Given the description of an element on the screen output the (x, y) to click on. 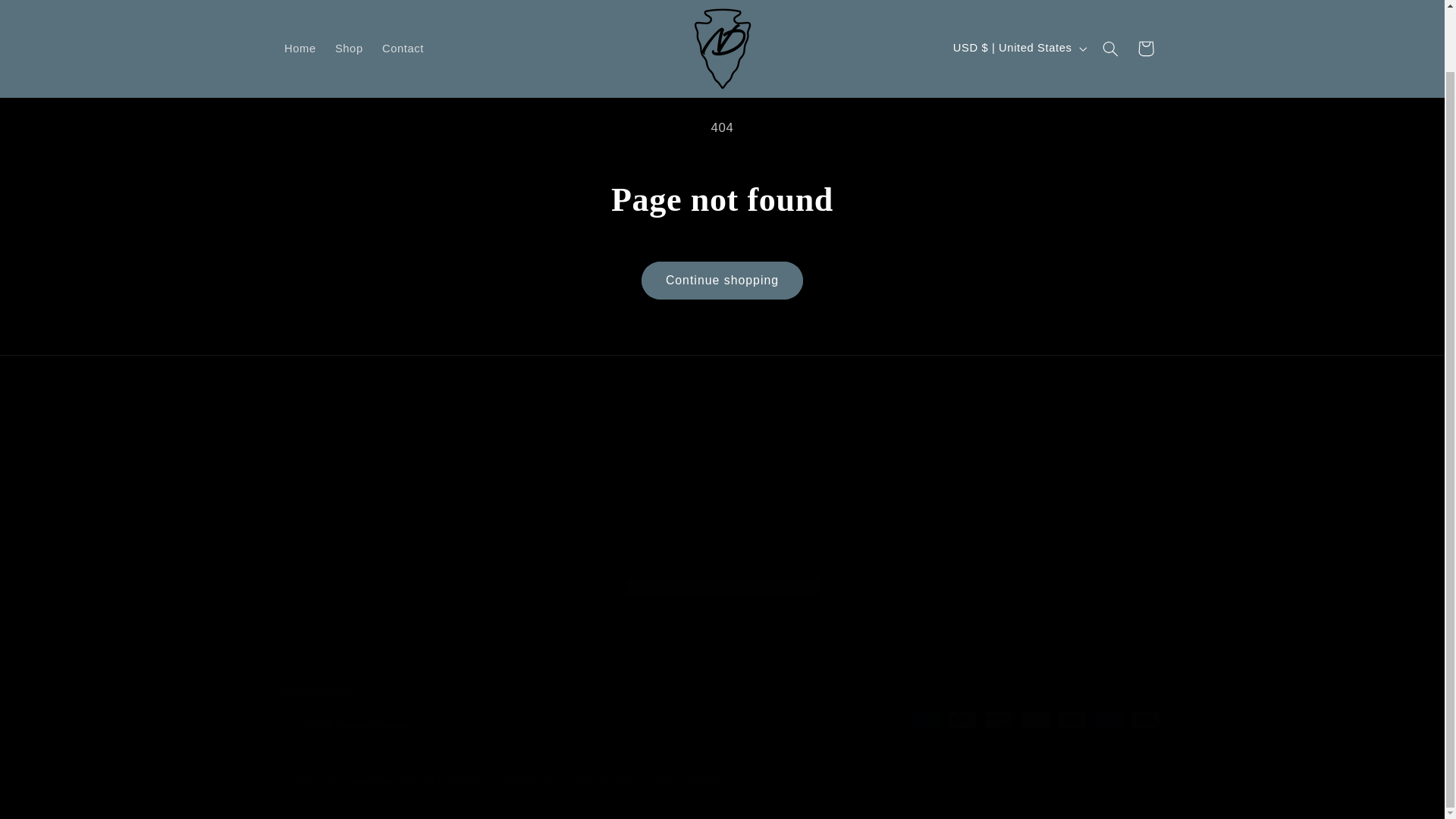
Terms of service (689, 780)
Contact (402, 14)
Cart (1145, 14)
Shop (348, 14)
Privacy policy (607, 780)
The Nomad Dad (357, 780)
Home (299, 14)
Refund policy (530, 780)
Continue shopping (722, 279)
